Given the description of an element on the screen output the (x, y) to click on. 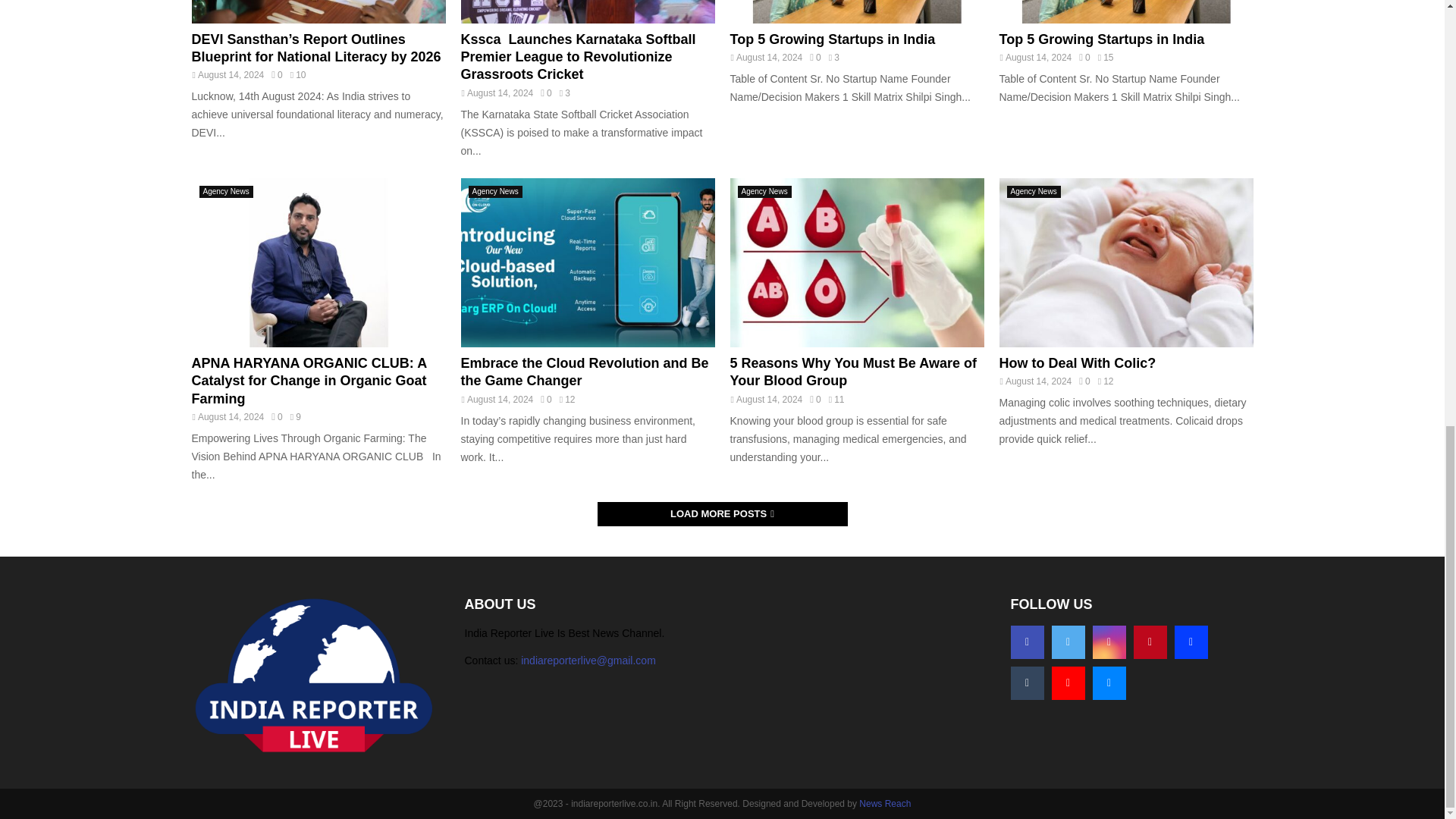
Top 5 Growing Startups in India (1101, 38)
0 (276, 74)
0 (545, 92)
0 (1083, 57)
Top 5 Growing Startups in India (831, 38)
Top 5 Growing Startups in India (856, 11)
0 (815, 57)
